Given the description of an element on the screen output the (x, y) to click on. 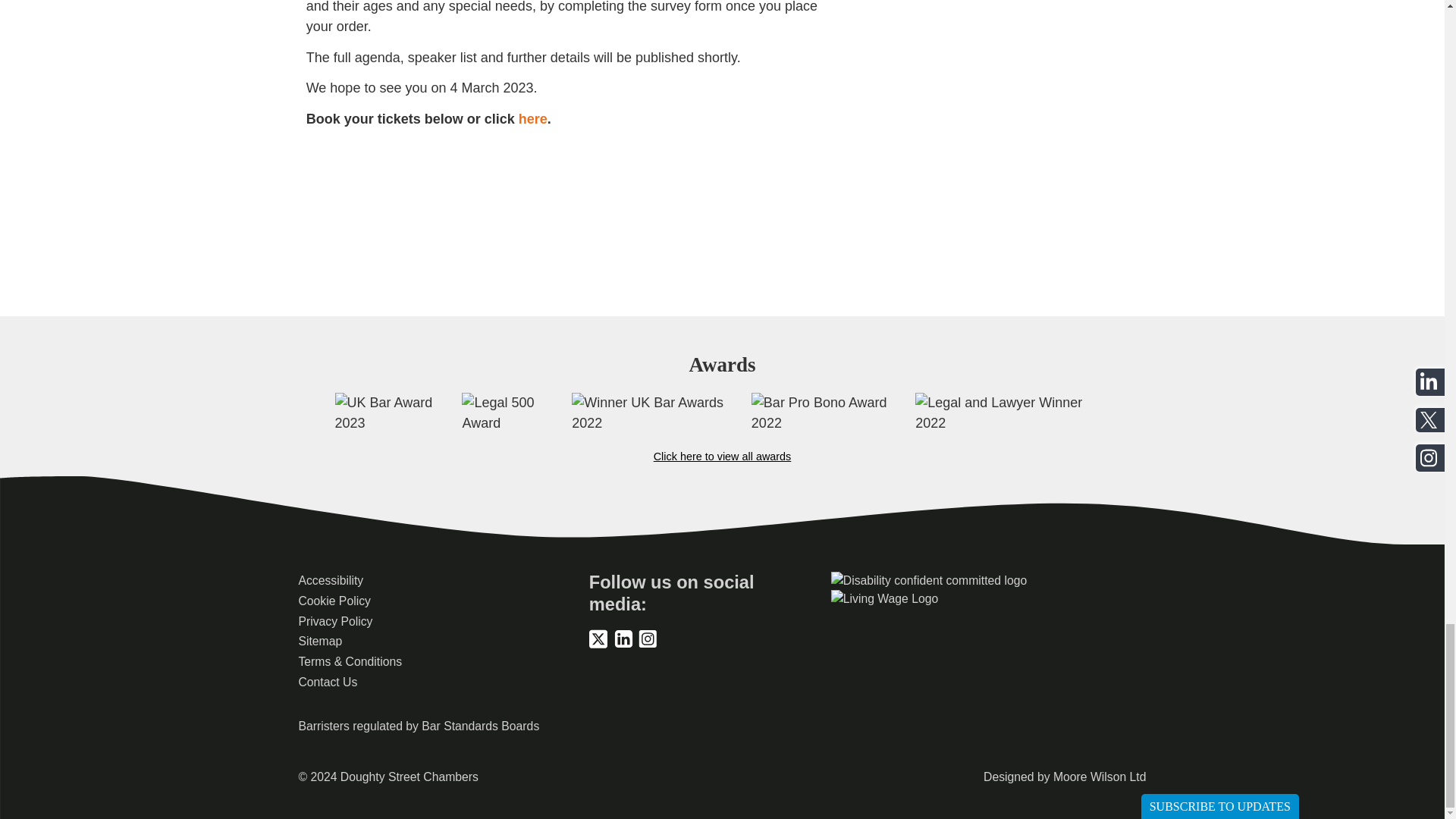
Contact us (327, 681)
